Given the description of an element on the screen output the (x, y) to click on. 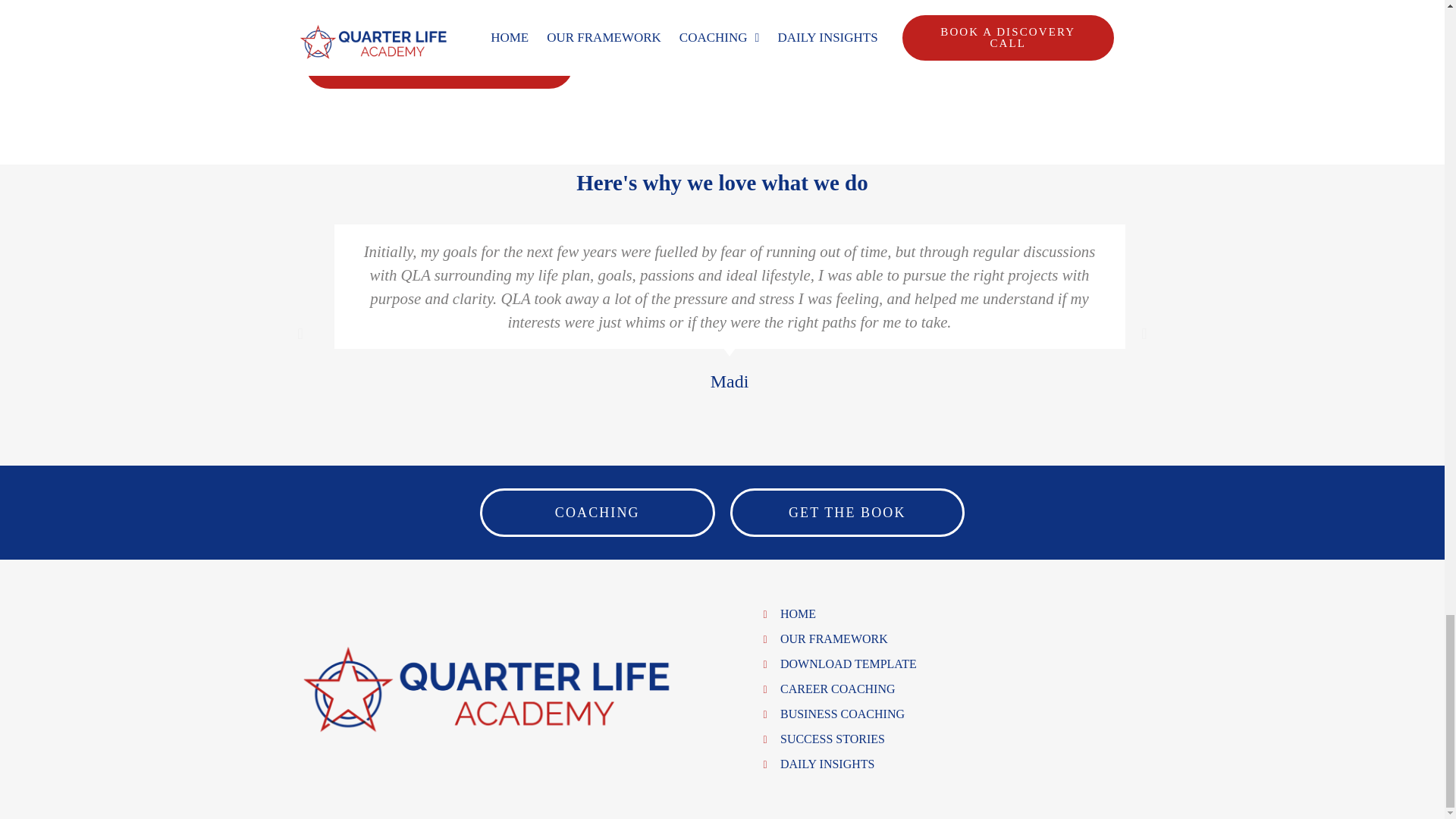
GET THE BOOK (846, 512)
HOME (954, 614)
BOOK A DISCOVERY CALL (438, 64)
COACHING (597, 512)
